Given the description of an element on the screen output the (x, y) to click on. 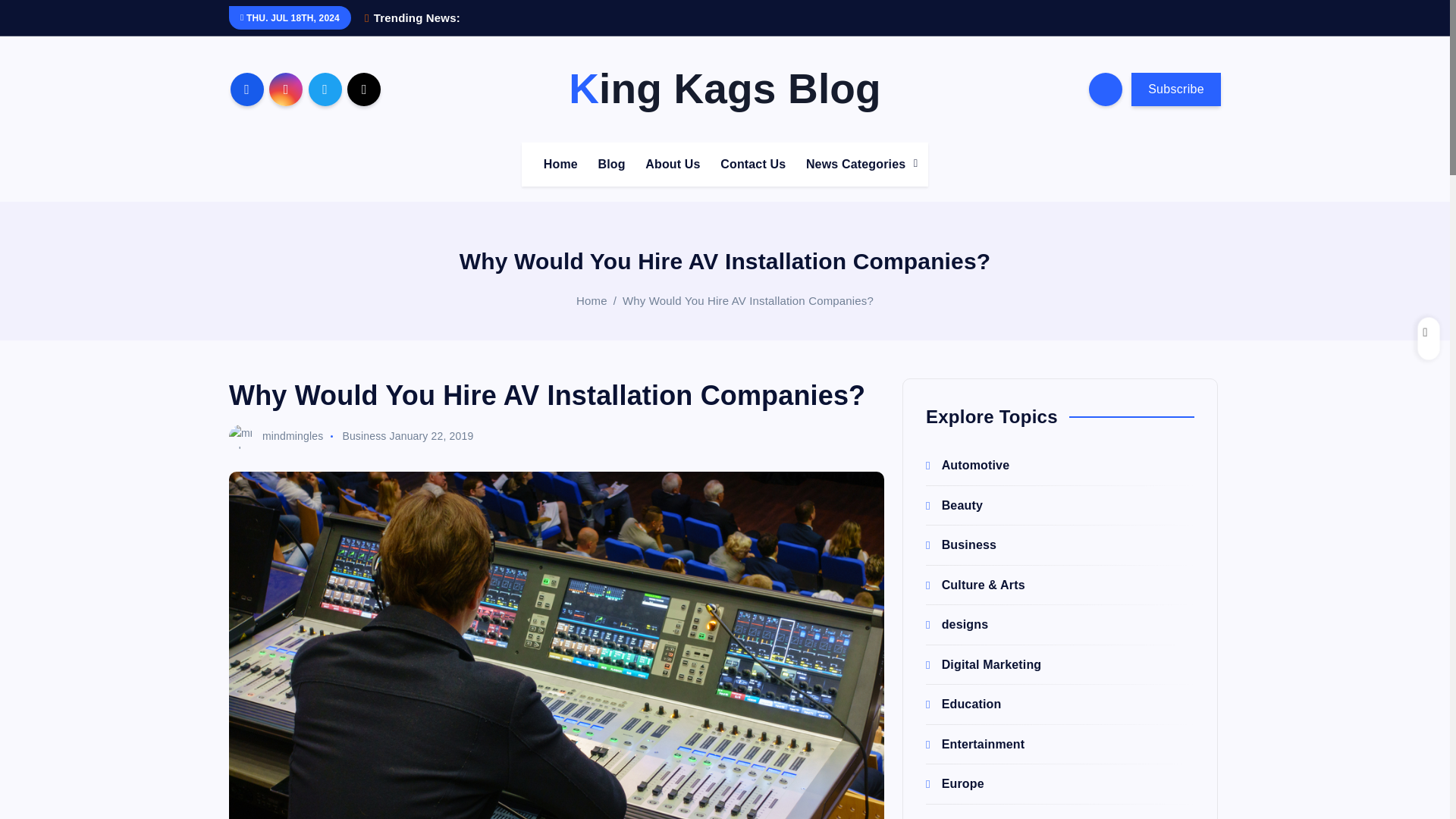
About Us (672, 164)
King Kags Blog (724, 89)
Blog (610, 164)
Contact Us (752, 164)
Subscribe (1176, 89)
Blog (610, 164)
Contact Us (752, 164)
News Categories (856, 164)
Home (560, 164)
About Us (672, 164)
Home (560, 164)
News Categories (856, 164)
